Given the description of an element on the screen output the (x, y) to click on. 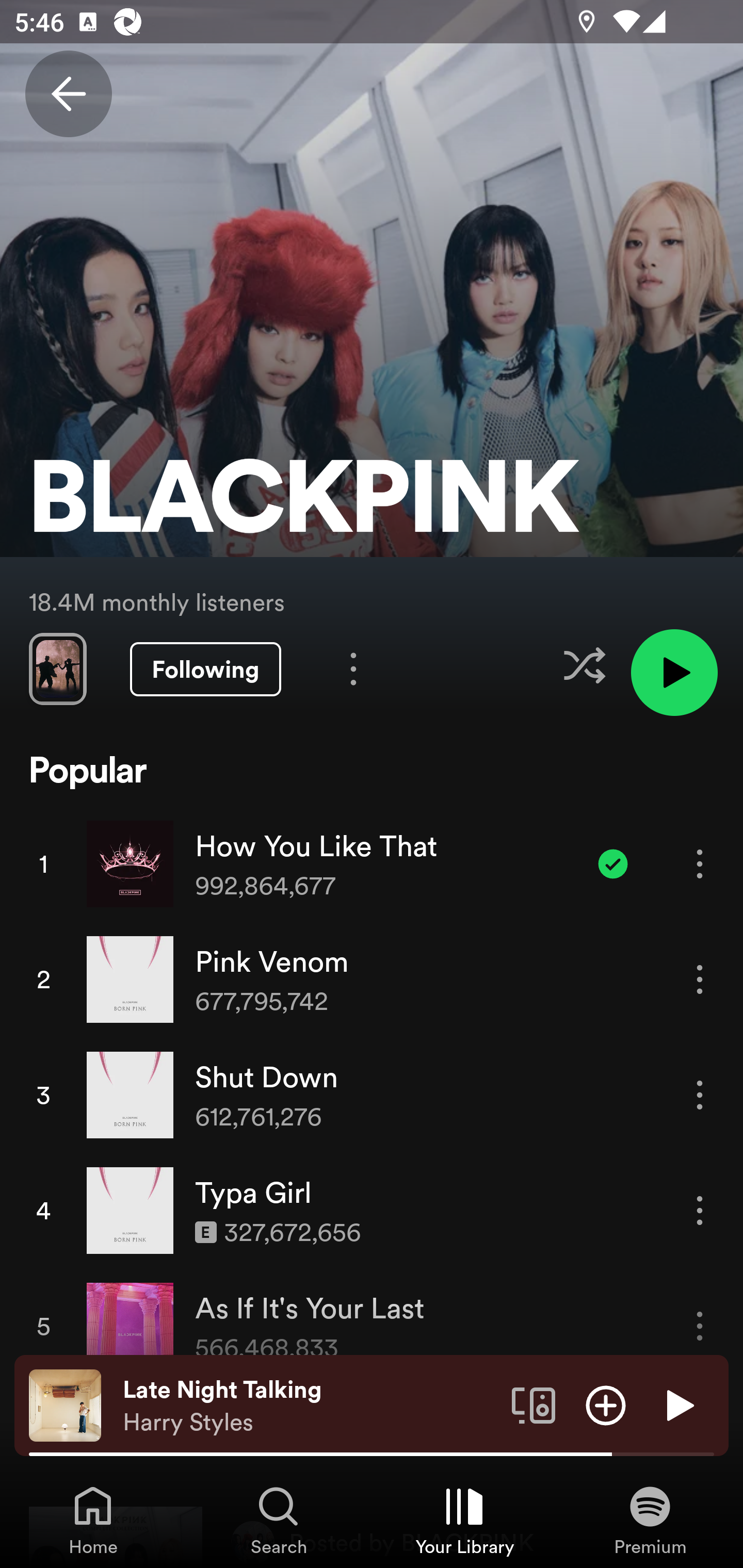
Back (68, 93)
Enable shuffle for this artist (583, 665)
More options for artist BLACKPINK (352, 668)
Play artist (674, 672)
Following Unfollow (205, 669)
Item added (612, 863)
More options for song How You Like That (699, 863)
More options for song Pink Venom (699, 979)
More options for song Shut Down (699, 1095)
More options for song Typa Girl (699, 1210)
More options for song As If It's Your Last (699, 1325)
Late Night Talking Harry Styles (309, 1405)
The cover art of the currently playing track (64, 1404)
Connect to a device. Opens the devices menu (533, 1404)
Add item (605, 1404)
Play (677, 1404)
Home, Tab 1 of 4 Home Home (92, 1519)
Search, Tab 2 of 4 Search Search (278, 1519)
Your Library, Tab 3 of 4 Your Library Your Library (464, 1519)
Premium, Tab 4 of 4 Premium Premium (650, 1519)
